Given the description of an element on the screen output the (x, y) to click on. 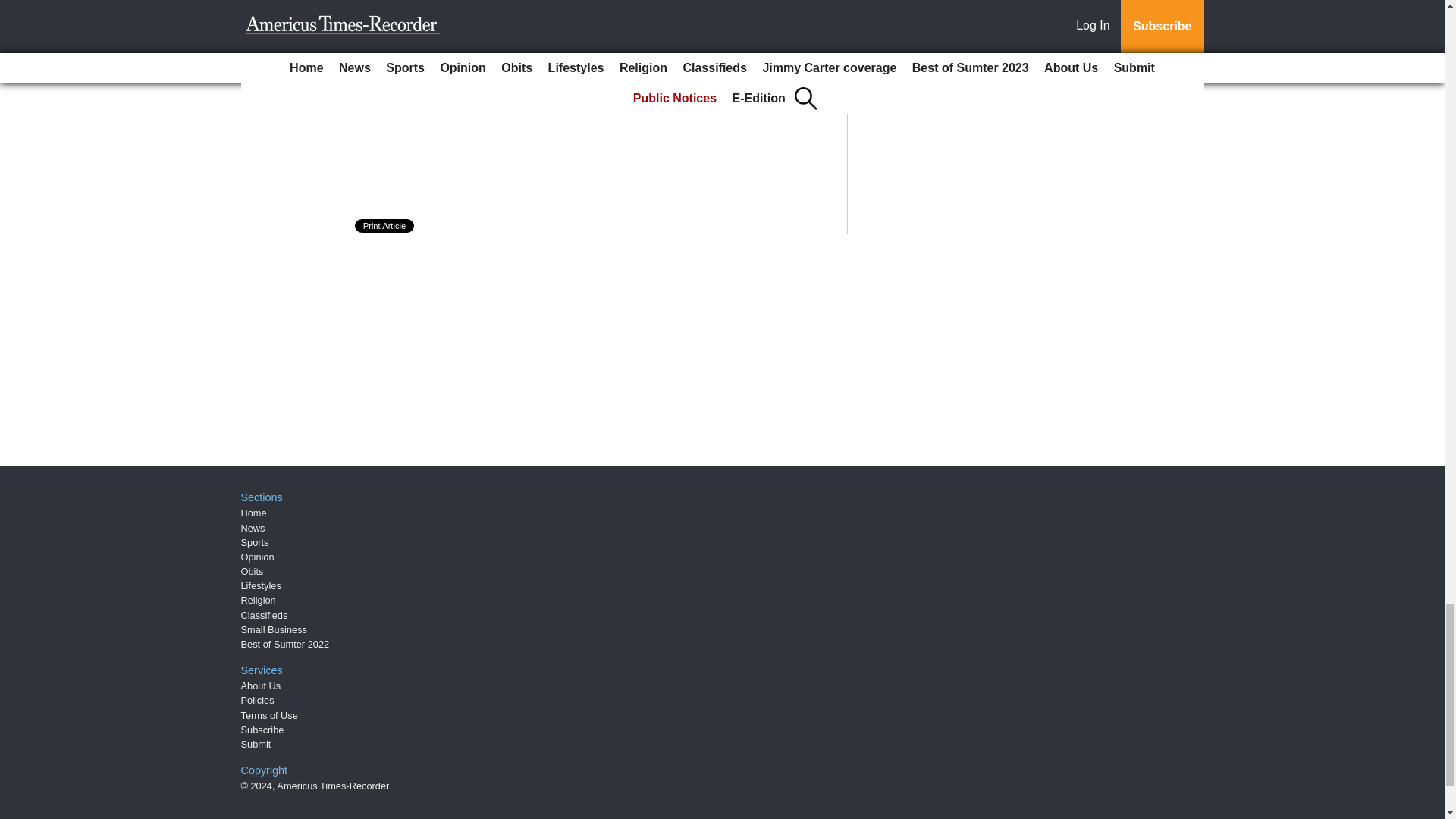
Opinion (258, 556)
Sports (255, 542)
Small Business (274, 629)
Classifieds (264, 614)
Democrats hold debate watch party (500, 93)
Home (253, 512)
Lifestyles (261, 585)
Best of Sumter 2022 (285, 644)
Obits (252, 571)
News (252, 527)
Print Article (384, 225)
Religion (258, 600)
Democrats hold debate watch party (500, 93)
